Given the description of an element on the screen output the (x, y) to click on. 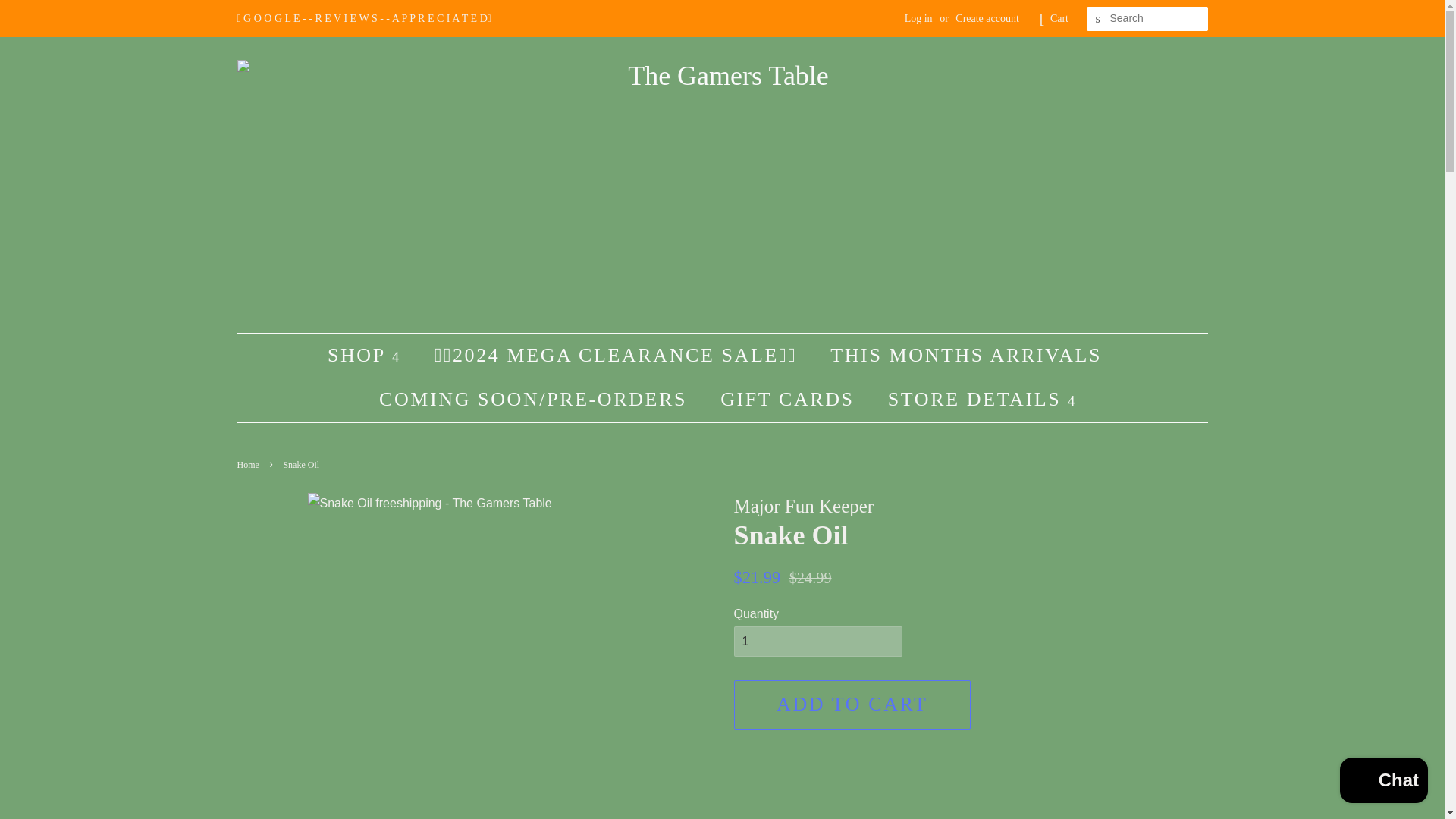
Back to the frontpage (248, 464)
Log in (918, 18)
1 (817, 641)
Create account (987, 18)
Cart (1058, 18)
SEARCH (1097, 18)
Shopify online store chat (1383, 781)
